Given the description of an element on the screen output the (x, y) to click on. 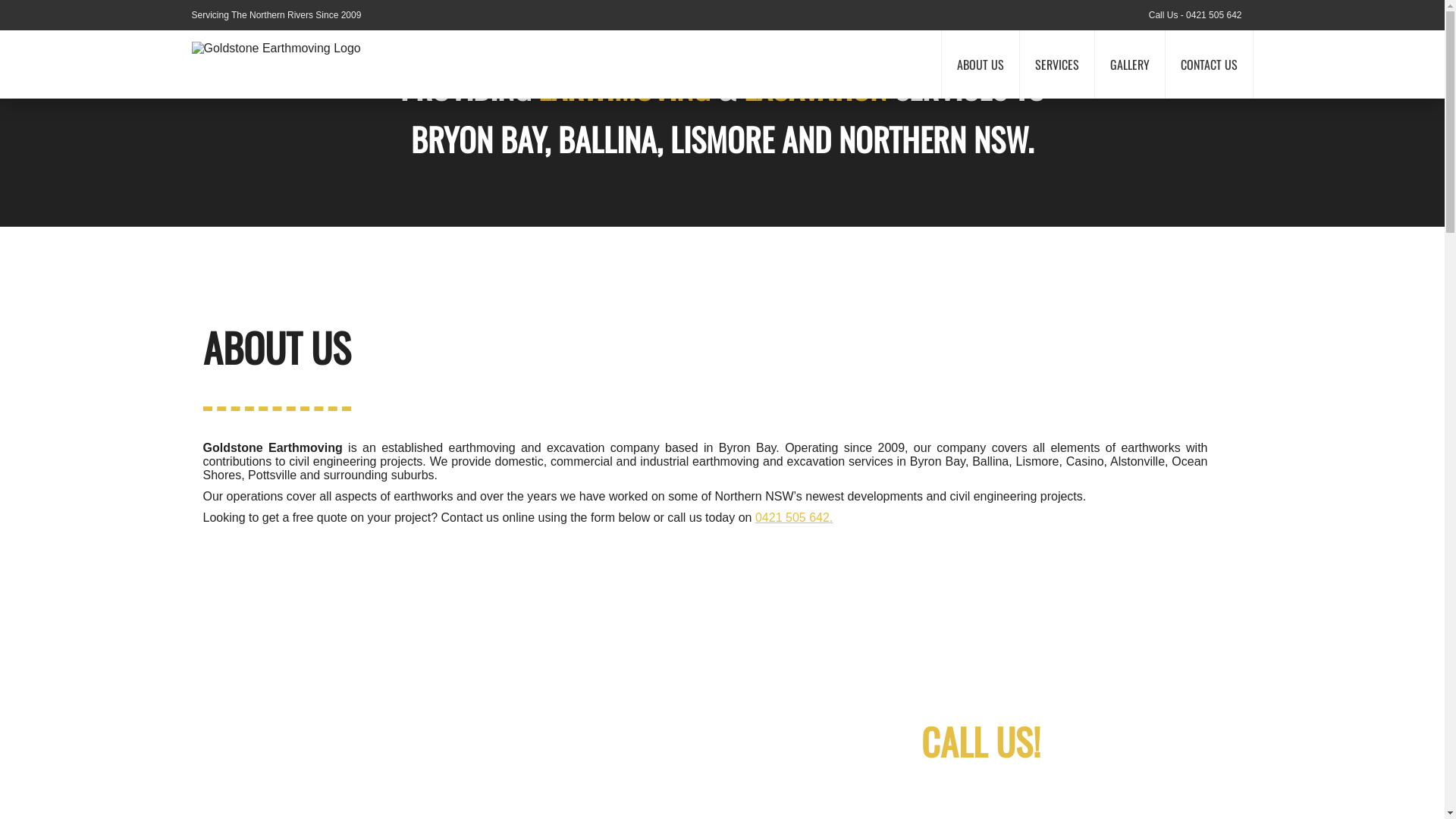
CONTACT US Element type: text (1208, 64)
GALLERY Element type: text (1130, 64)
0421 505 642. Element type: text (793, 517)
SERVICES Element type: text (1056, 64)
Call Us - 0421 505 642 Element type: text (1191, 14)
RW Psychology Instagram Element type: hover (1247, 14)
ABOUT US Element type: text (979, 64)
